Given the description of an element on the screen output the (x, y) to click on. 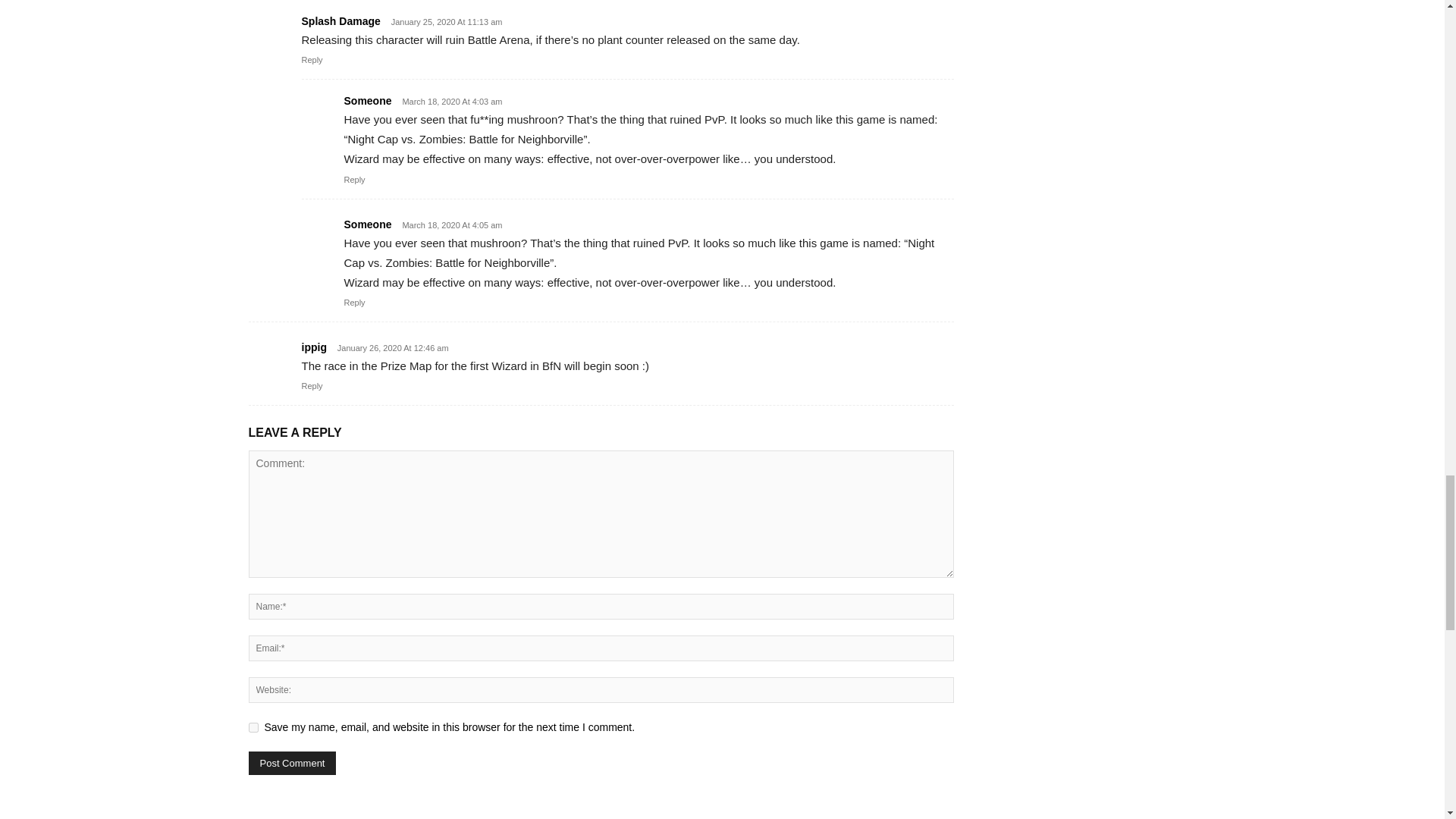
yes (253, 727)
Post Comment (292, 762)
